Given the description of an element on the screen output the (x, y) to click on. 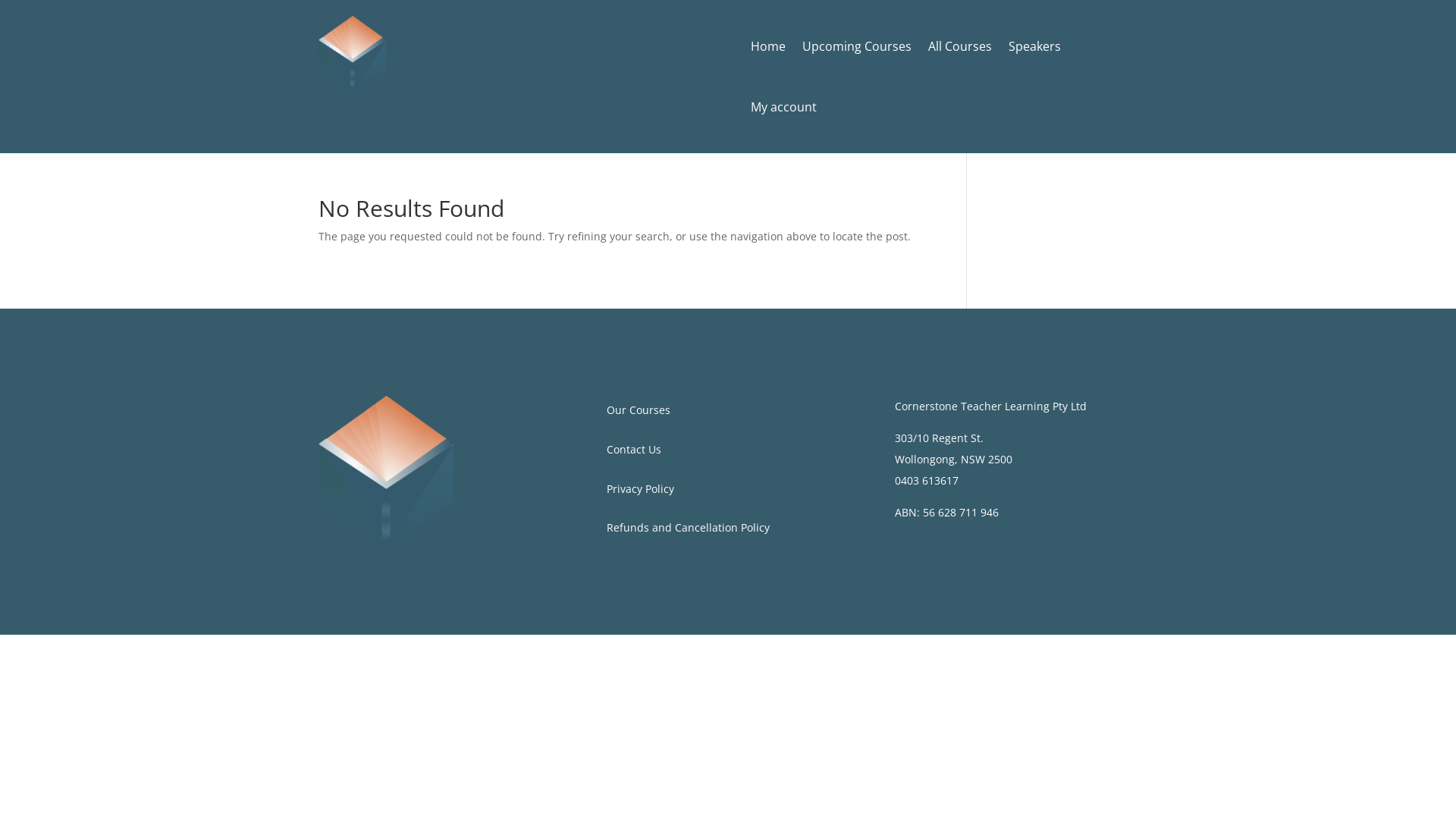
Speakers Element type: text (1034, 48)
Refunds and Cancellation Policy Element type: text (687, 527)
Upcoming Courses Element type: text (856, 48)
Contact Us Element type: text (633, 449)
cornerstone1 Element type: hover (352, 53)
My account Element type: text (783, 109)
cornerstone1 Element type: hover (386, 471)
Privacy Policy Element type: text (640, 488)
Our Courses Element type: text (638, 409)
All Courses Element type: text (959, 48)
Home Element type: text (767, 48)
